Given the description of an element on the screen output the (x, y) to click on. 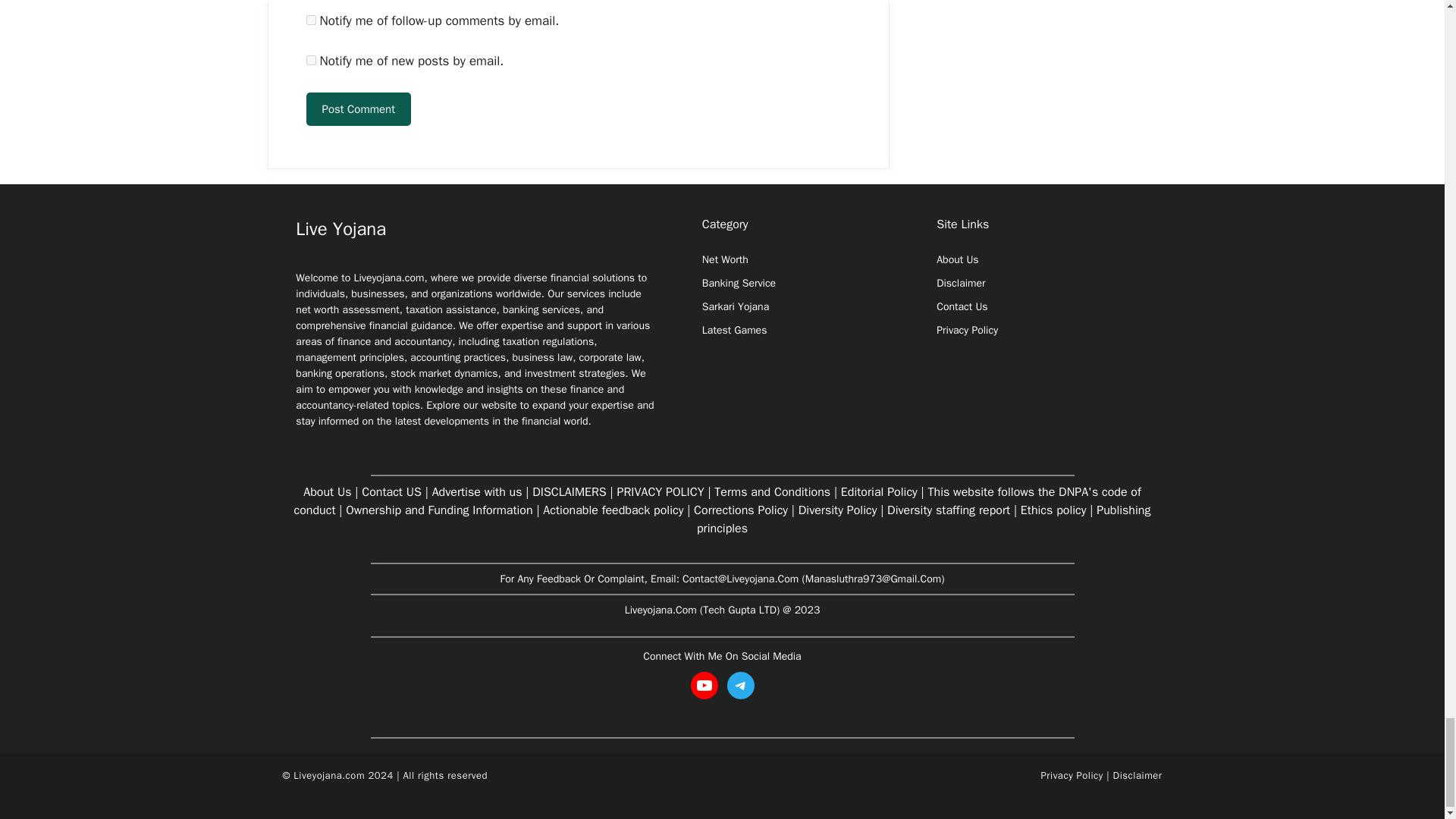
Post Comment (357, 109)
Post Comment (357, 109)
subscribe (310, 20)
subscribe (310, 60)
